Given the description of an element on the screen output the (x, y) to click on. 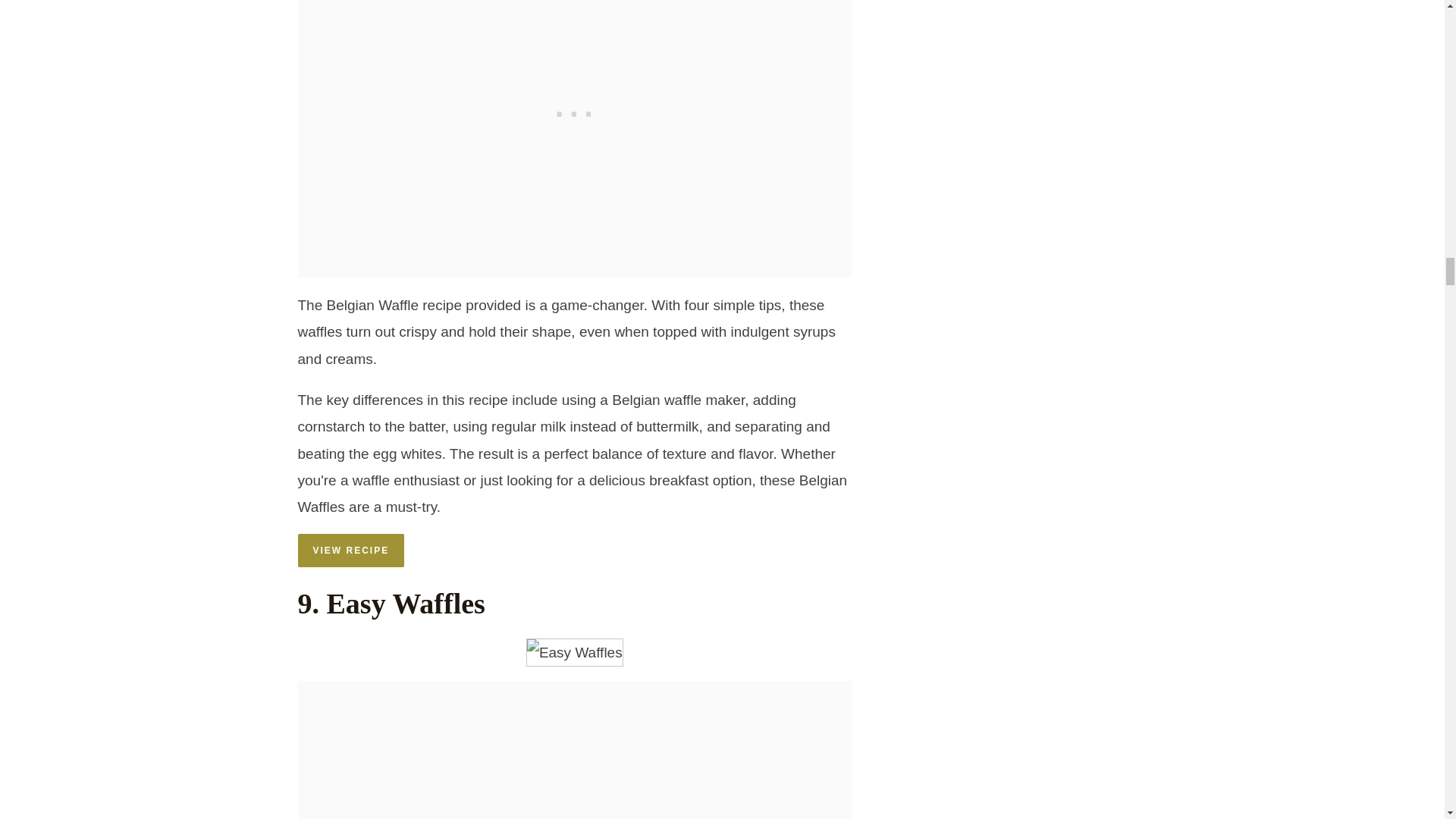
Easy Waffles (574, 652)
VIEW RECIPE (350, 550)
